Given the description of an element on the screen output the (x, y) to click on. 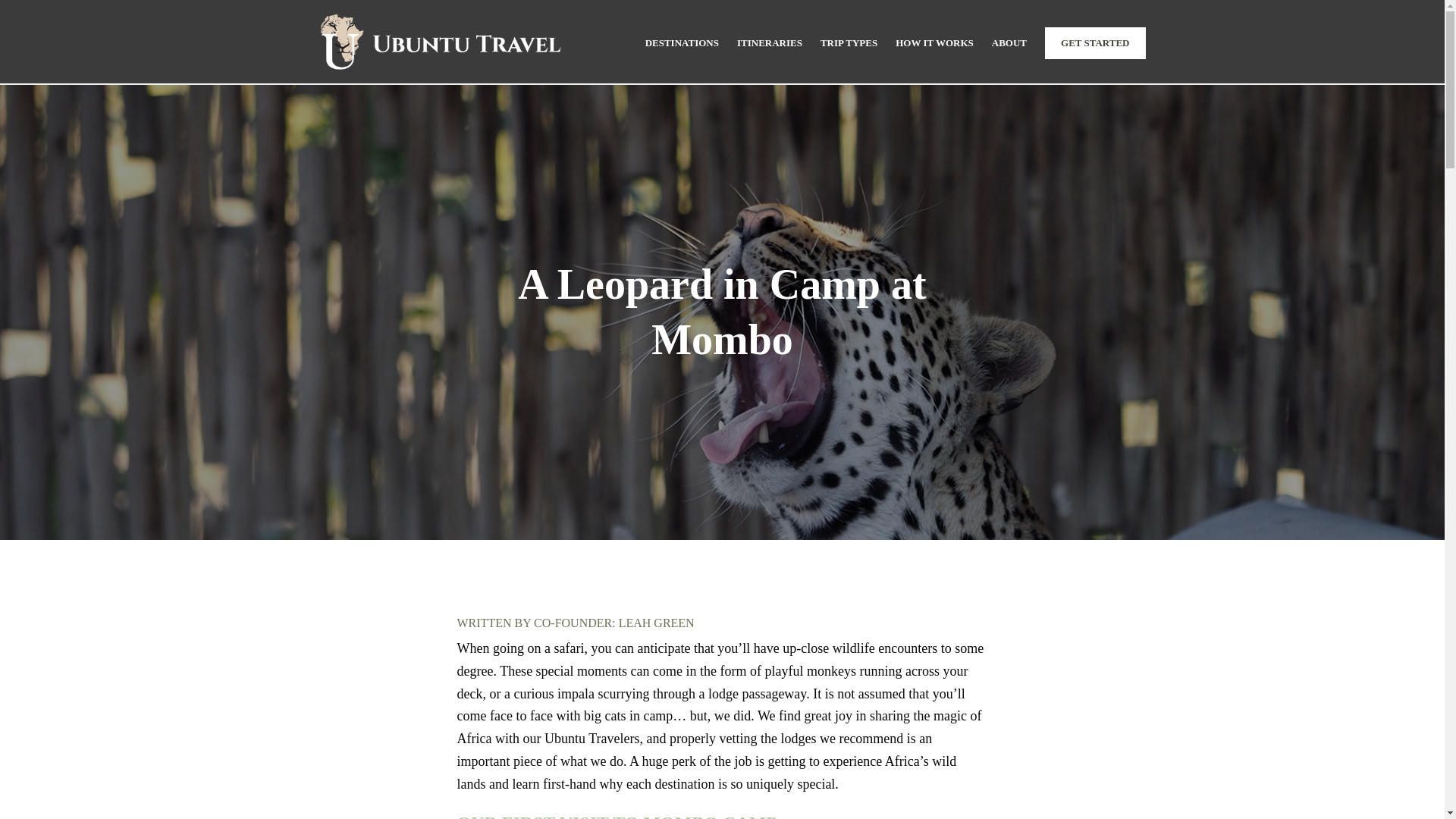
GET STARTED (1094, 41)
ABOUT (1008, 42)
TRIP TYPES (848, 42)
Exceptional African Journeys (439, 41)
ITINERARIES (769, 42)
DESTINATIONS (682, 42)
ABOUT (1008, 42)
DESTINATIONS (682, 42)
HOW IT WORKS (934, 42)
GET STARTED (1094, 41)
